Given the description of an element on the screen output the (x, y) to click on. 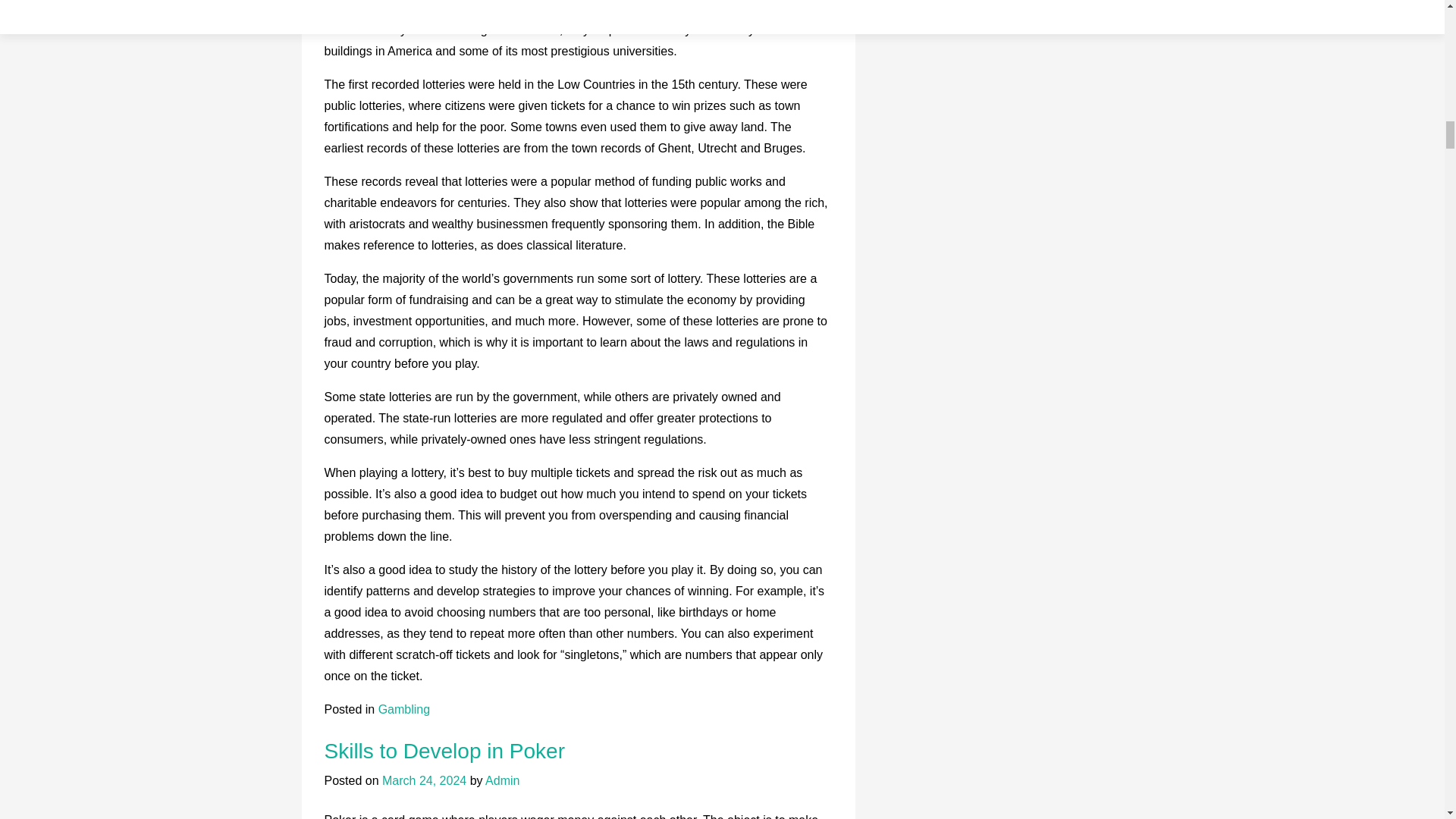
Admin (501, 780)
Skills to Develop in Poker (444, 750)
March 24, 2024 (423, 780)
Gambling (403, 708)
